Given the description of an element on the screen output the (x, y) to click on. 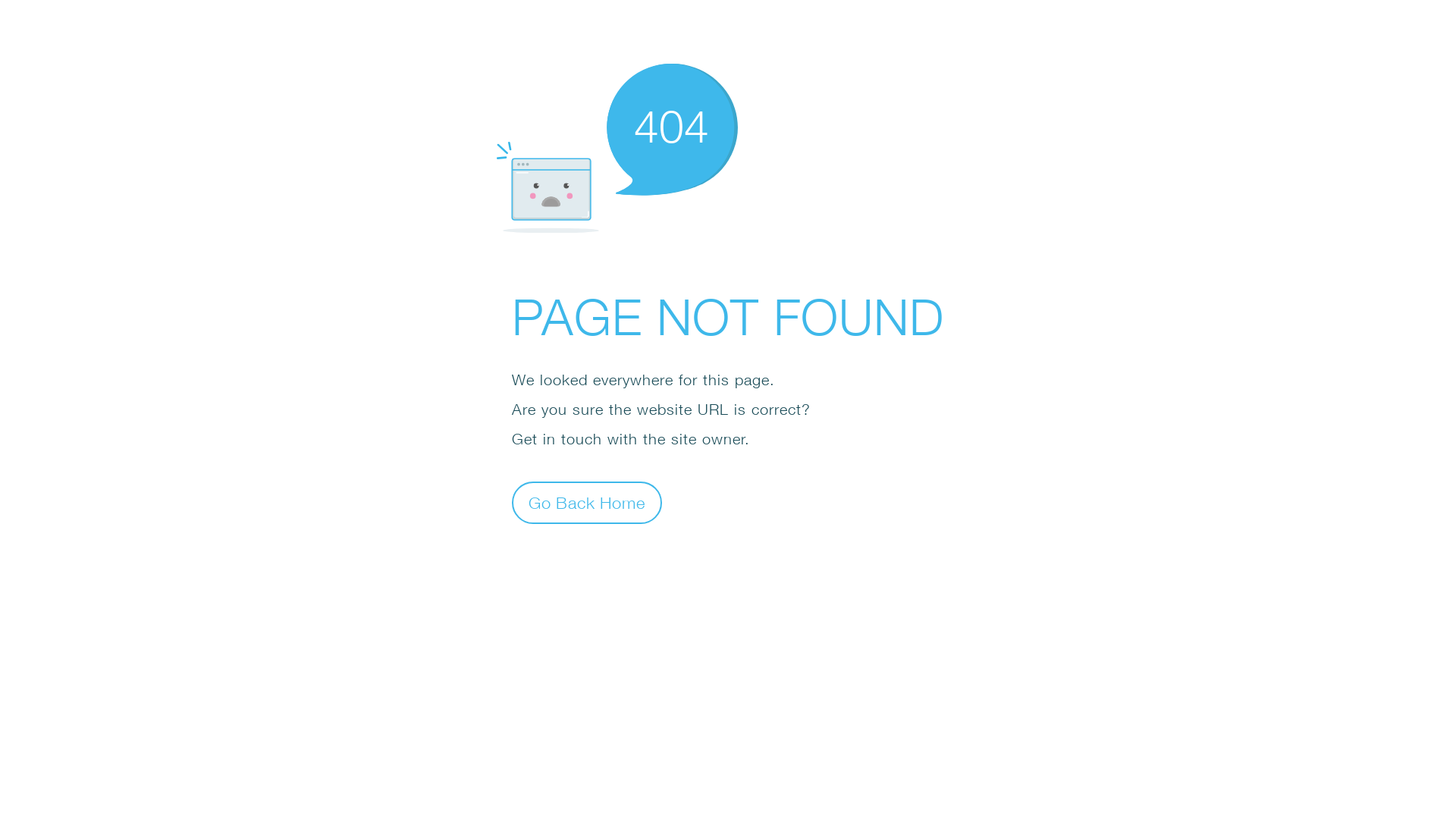
Go Back Home Element type: text (586, 502)
